Given the description of an element on the screen output the (x, y) to click on. 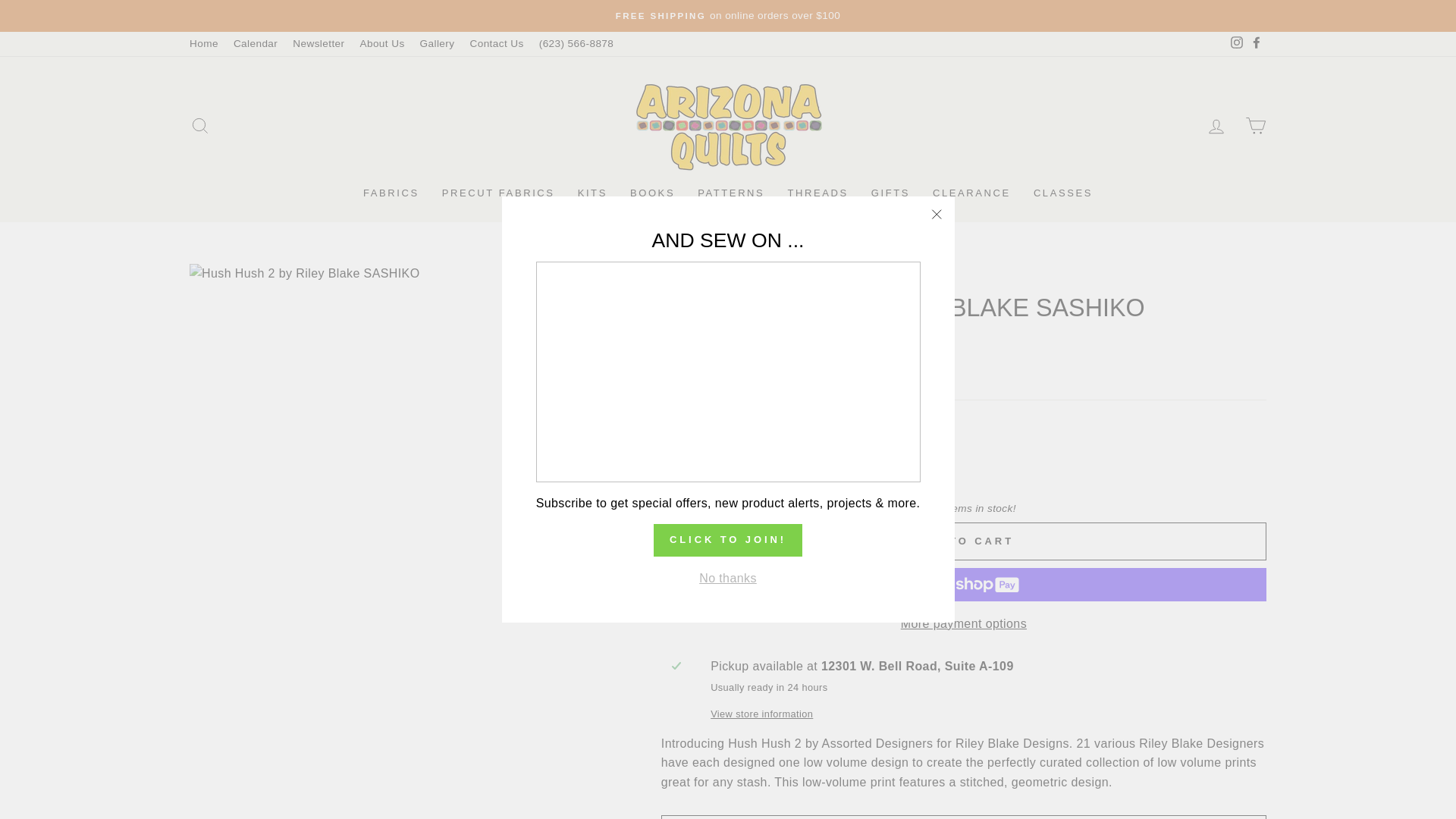
Back to the frontpage (675, 279)
1 (691, 462)
